Given the description of an element on the screen output the (x, y) to click on. 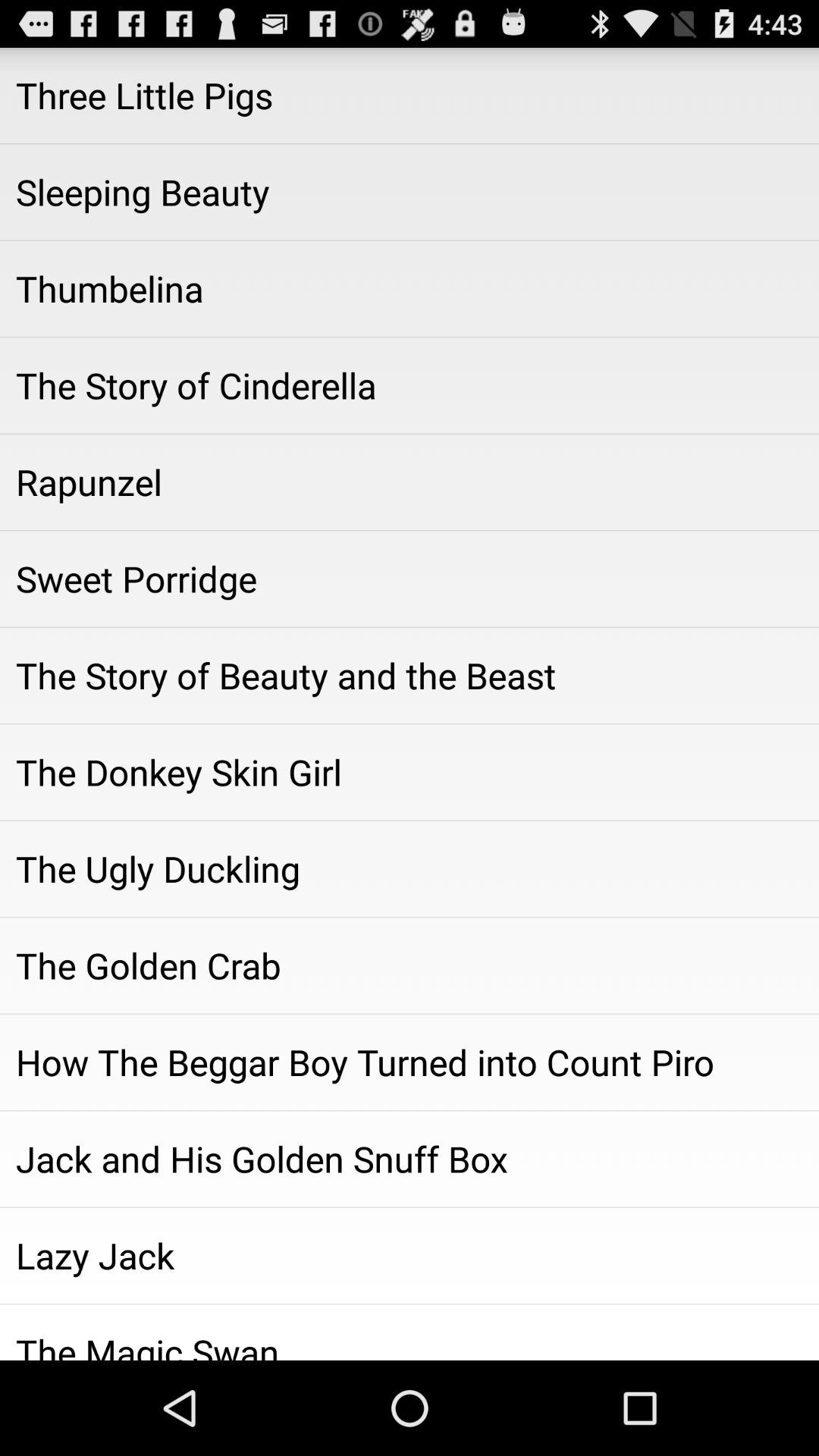
flip until the the ugly duckling icon (409, 868)
